Given the description of an element on the screen output the (x, y) to click on. 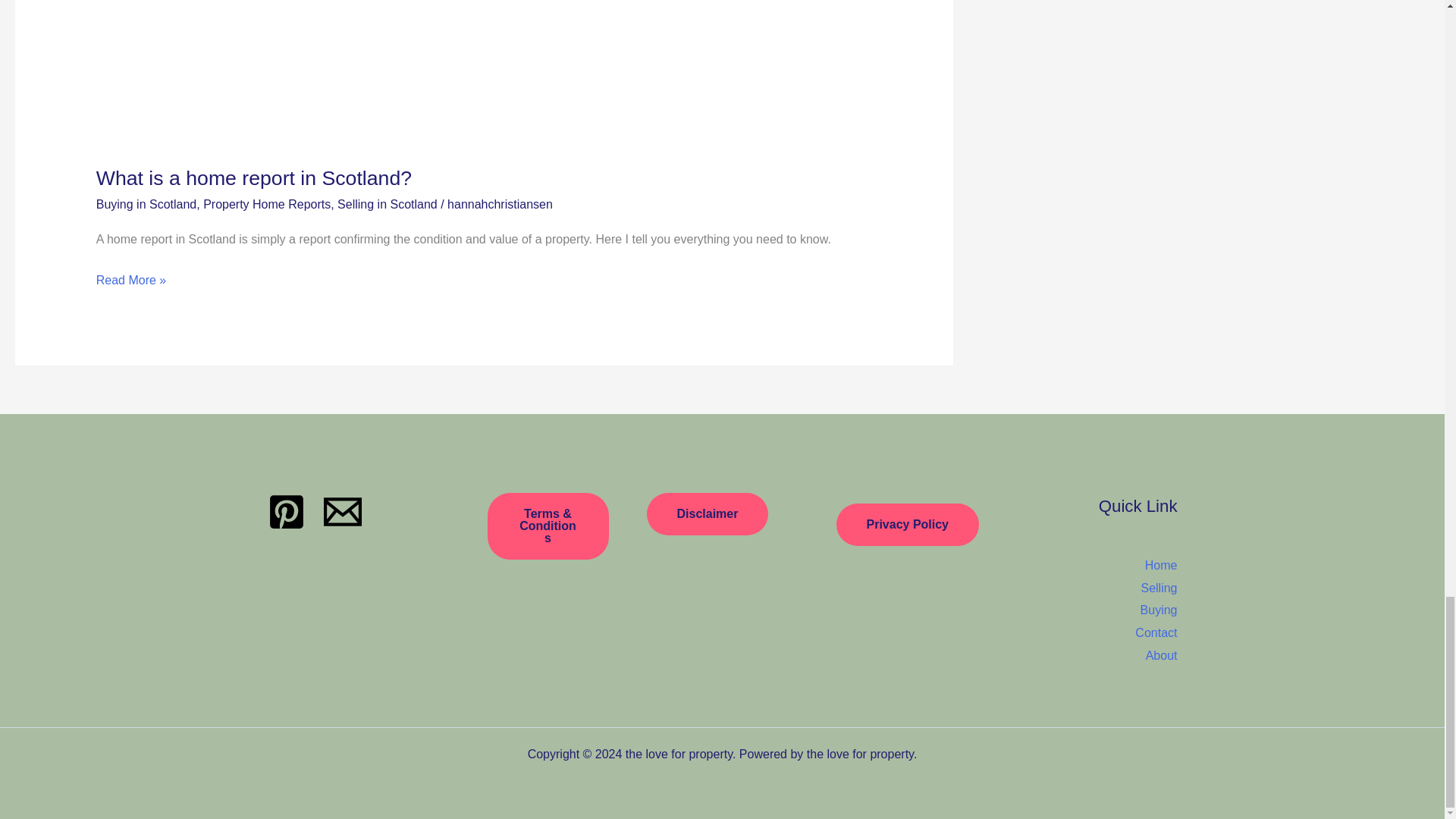
View all posts by hannahchristiansen (499, 204)
